Given the description of an element on the screen output the (x, y) to click on. 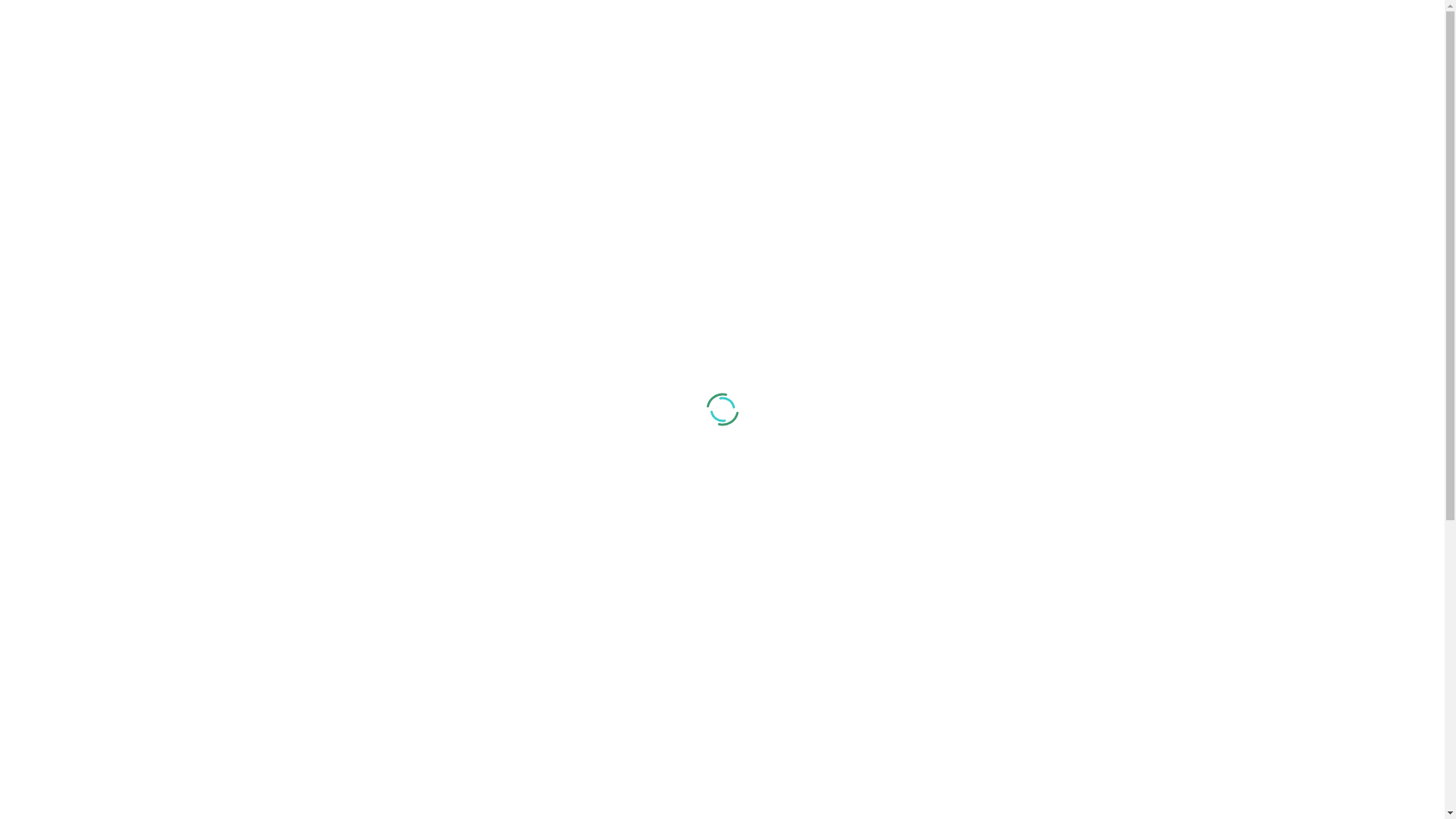
Guadeloupe Element type: text (327, 570)
PROMOS Element type: text (497, 130)
ACCUEIL Element type: text (314, 130)
 FAITES VOTRE DEMANDE DE DEVIS  Element type: text (1065, 49)
CONTACT Element type: text (576, 130)
